Given the description of an element on the screen output the (x, y) to click on. 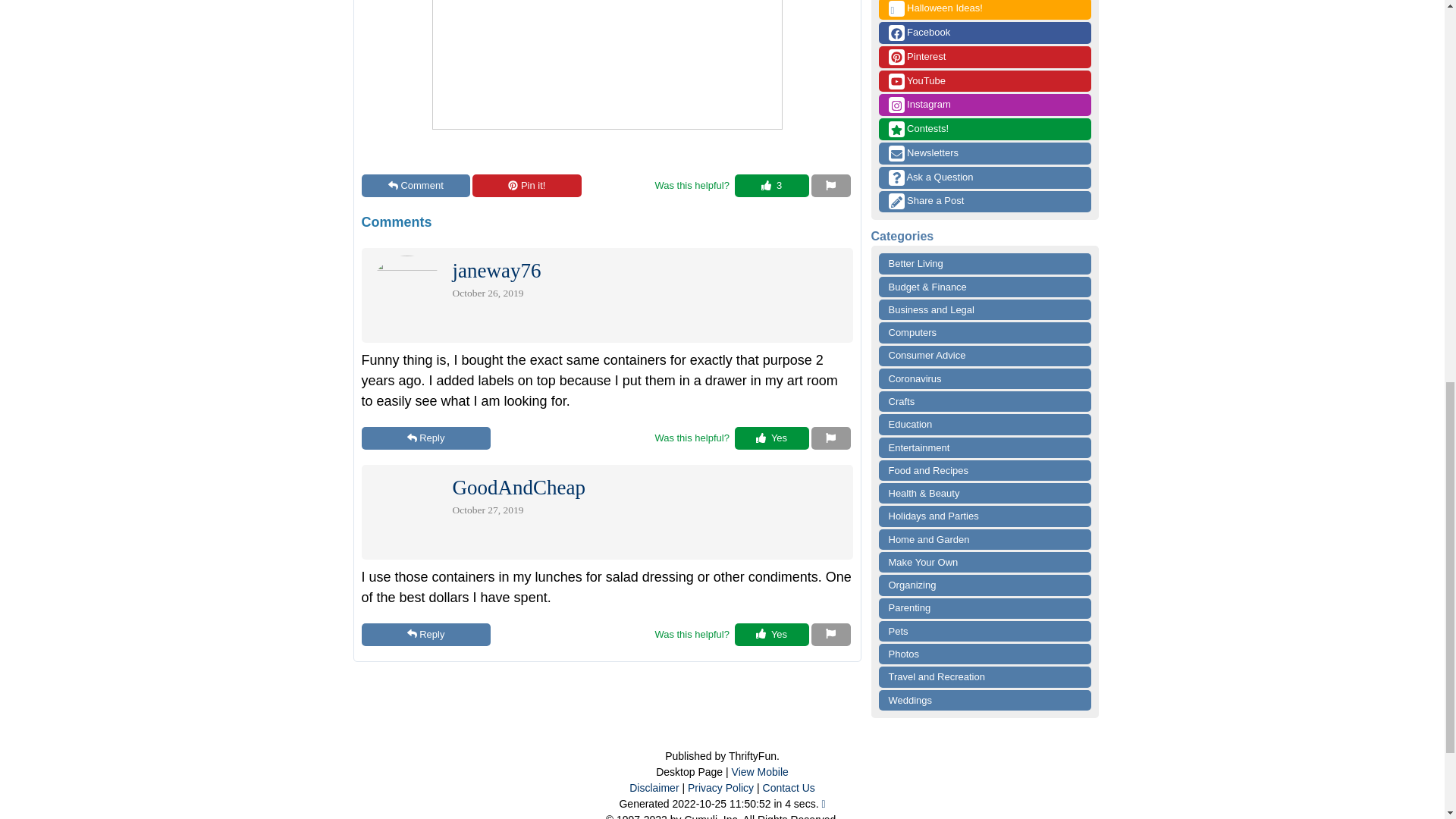
 Comment (415, 185)
GoodAndCheap (518, 490)
 Pin it! (525, 185)
 Reply (425, 437)
 Reply (425, 634)
janeway76 (495, 274)
